Given the description of an element on the screen output the (x, y) to click on. 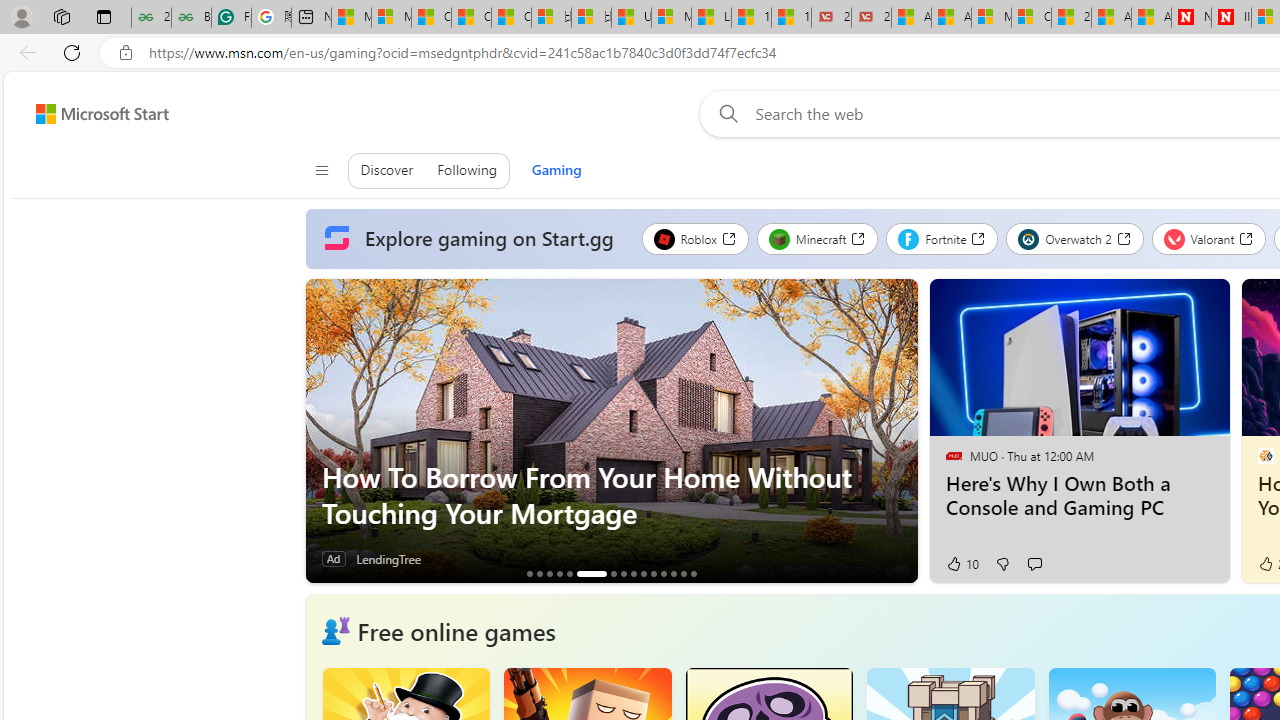
The Rarest N64 Games (& How Much They're Worth) (673, 573)
How Shein Is Revolutionizing The Fashion Industry? (539, 573)
21 Movies That Outdid the Books They Were Based On (871, 17)
Illness news & latest pictures from Newsweek.com (1231, 17)
15 Ways Modern Life Contradicts the Teachings of Jesus (791, 17)
Newsweek - News, Analysis, Politics, Business, Technology (1191, 17)
Lifestyle - MSN (711, 17)
Best SSL Certificates Provider in India - GeeksforGeeks (191, 17)
